Given the description of an element on the screen output the (x, y) to click on. 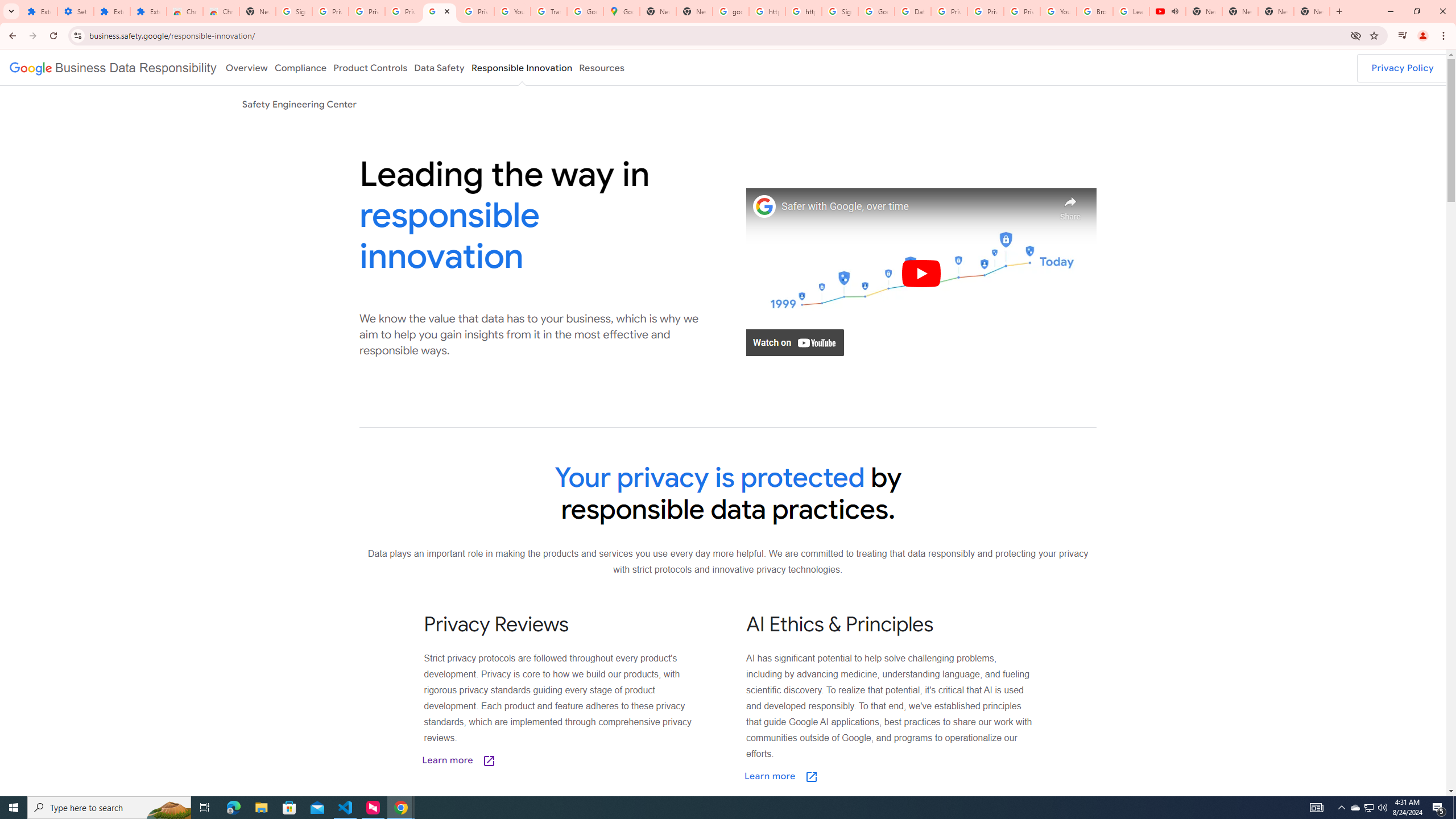
YouTube (1058, 11)
Settings (75, 11)
Photo image of Google (764, 205)
Privacy Help Center - Policies Help (949, 11)
Safer with Google, over time (916, 206)
New Tab (257, 11)
Mute tab (1174, 10)
Data Safety (438, 67)
